Given the description of an element on the screen output the (x, y) to click on. 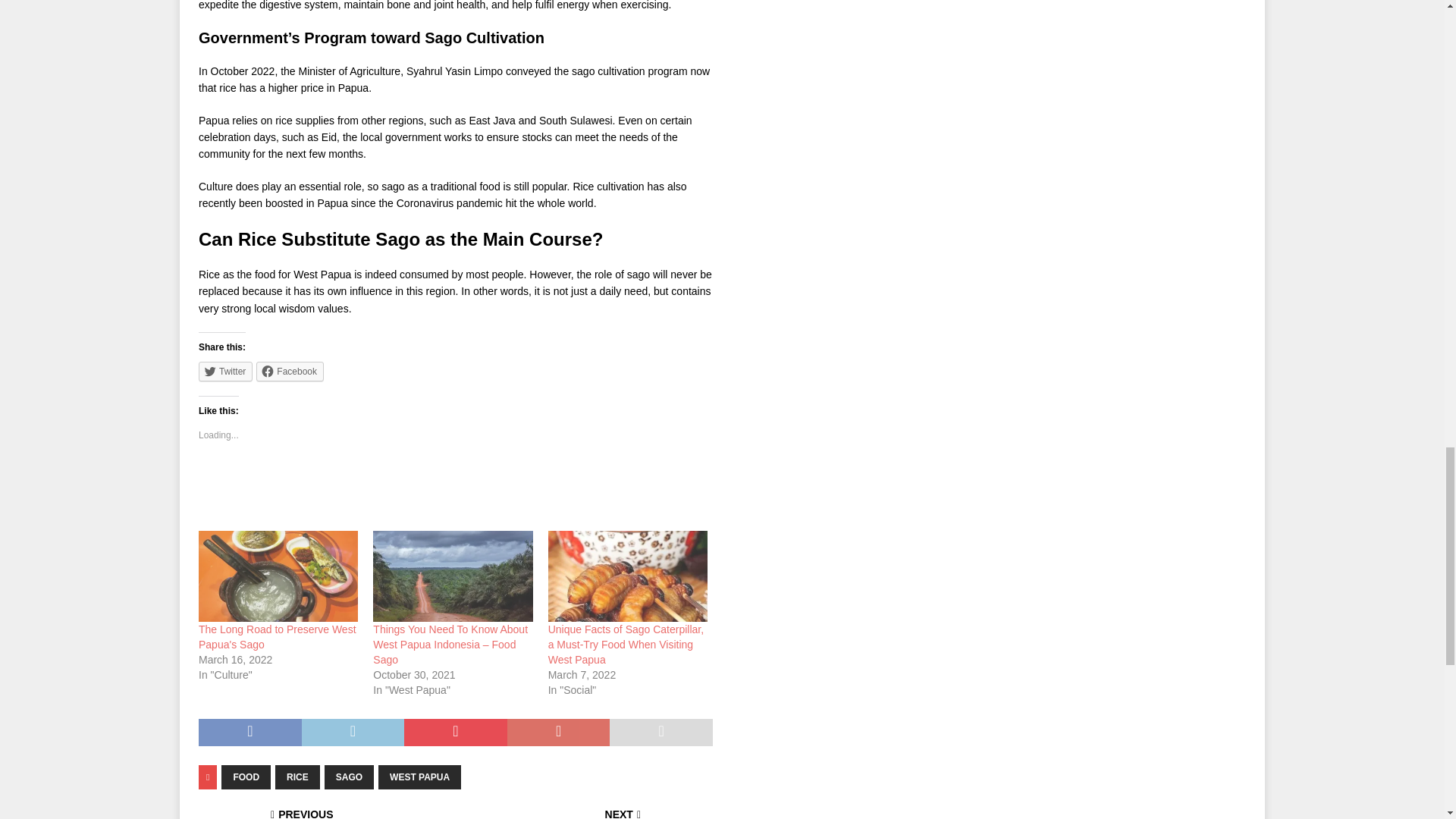
Click to share on Facebook (289, 371)
Click to share on Twitter (224, 371)
Twitter (224, 371)
The Long Road to Preserve West Papua's Sago (278, 575)
The Long Road to Preserve West Papua's Sago (277, 636)
Facebook (289, 371)
Like or Reblog (455, 488)
